Given the description of an element on the screen output the (x, y) to click on. 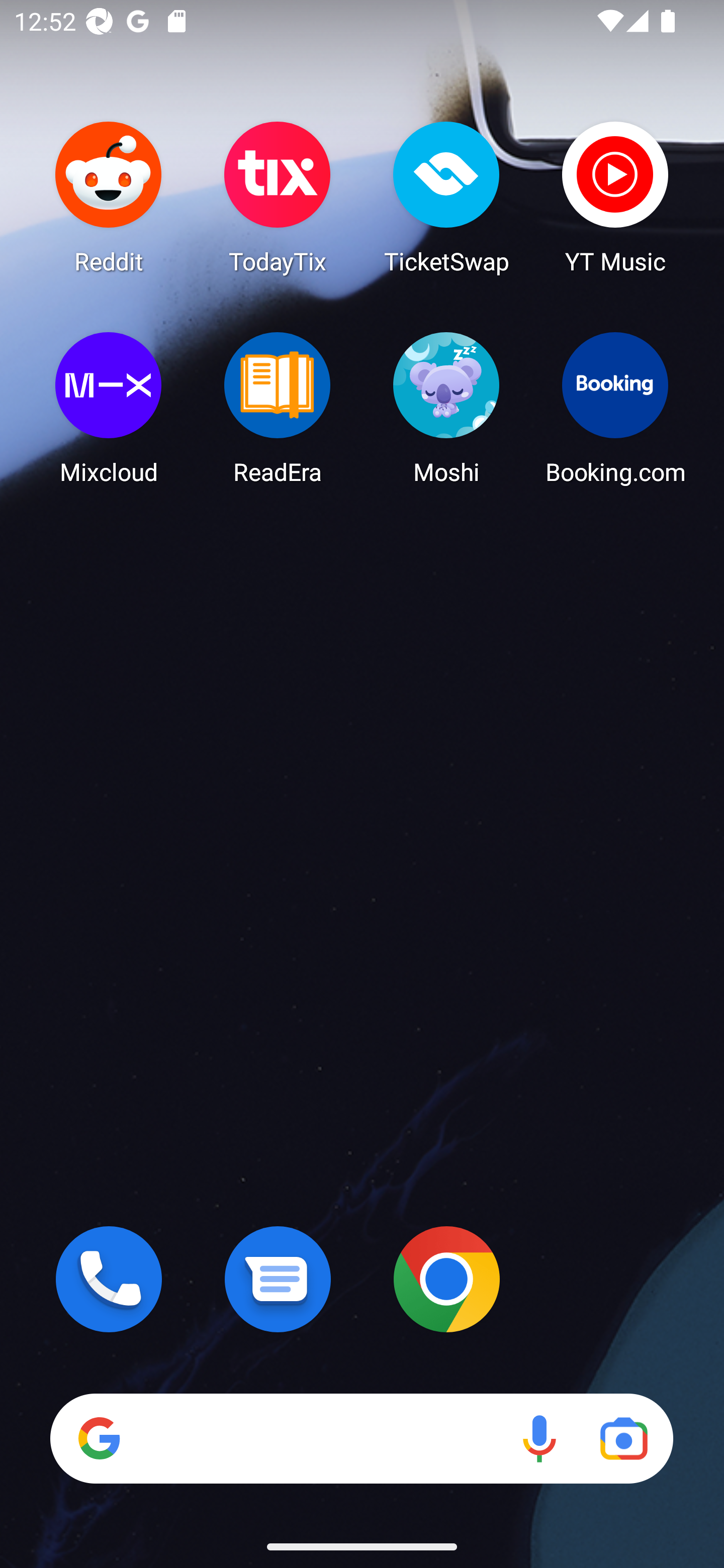
Reddit (108, 196)
TodayTix (277, 196)
TicketSwap (445, 196)
YT Music (615, 196)
Mixcloud (108, 407)
ReadEra (277, 407)
Moshi (445, 407)
Booking.com (615, 407)
Phone (108, 1279)
Messages (277, 1279)
Chrome (446, 1279)
Search Voice search Google Lens (361, 1438)
Voice search (539, 1438)
Google Lens (623, 1438)
